Given the description of an element on the screen output the (x, y) to click on. 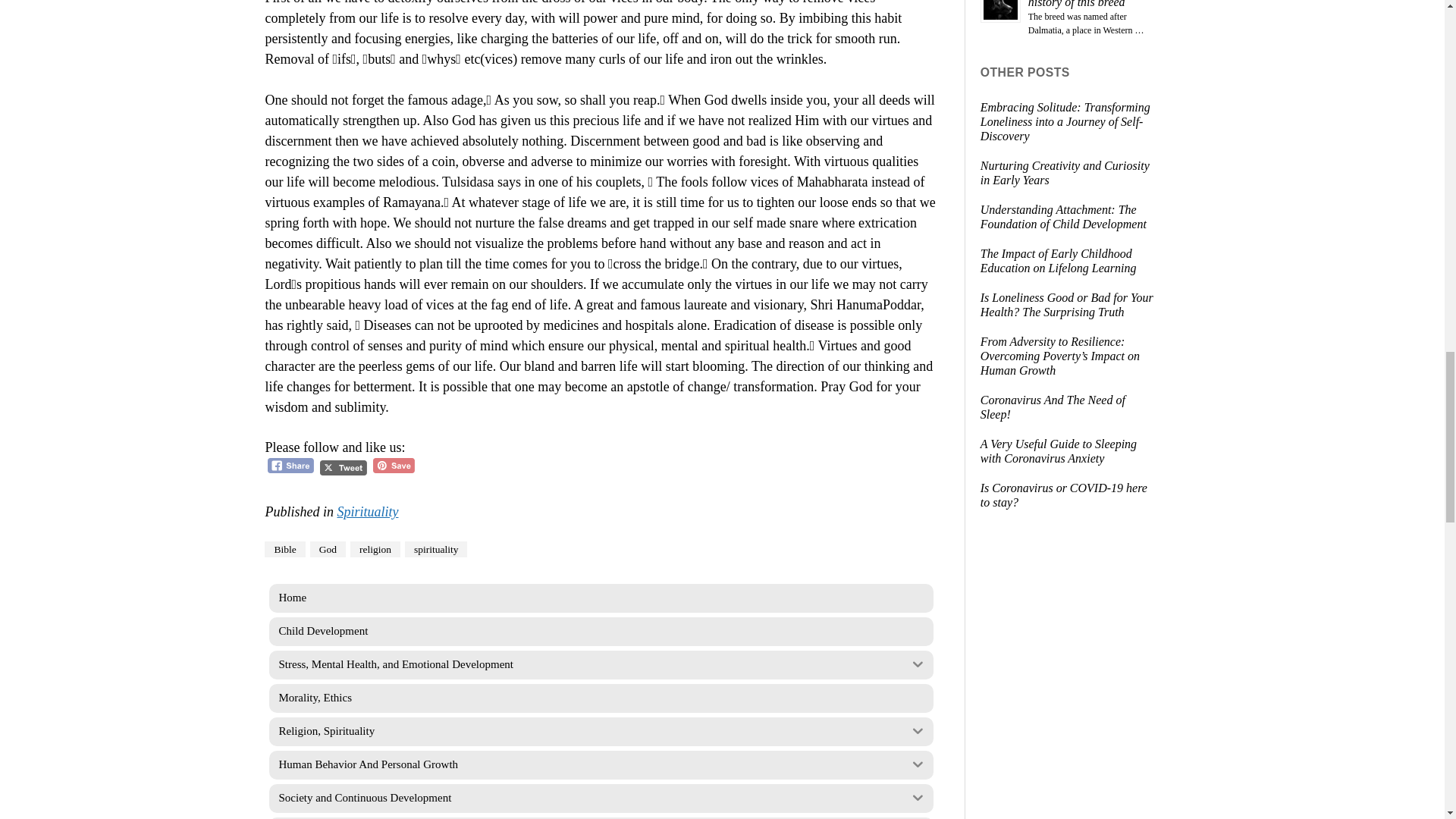
Tweet (343, 467)
Pin Share (393, 465)
View all posts tagged spirituality (435, 549)
View all posts tagged religion (375, 549)
View all posts in Spirituality (366, 511)
View all posts tagged God (328, 549)
View all posts tagged Bible (284, 549)
Facebook Share (290, 465)
